Given the description of an element on the screen output the (x, y) to click on. 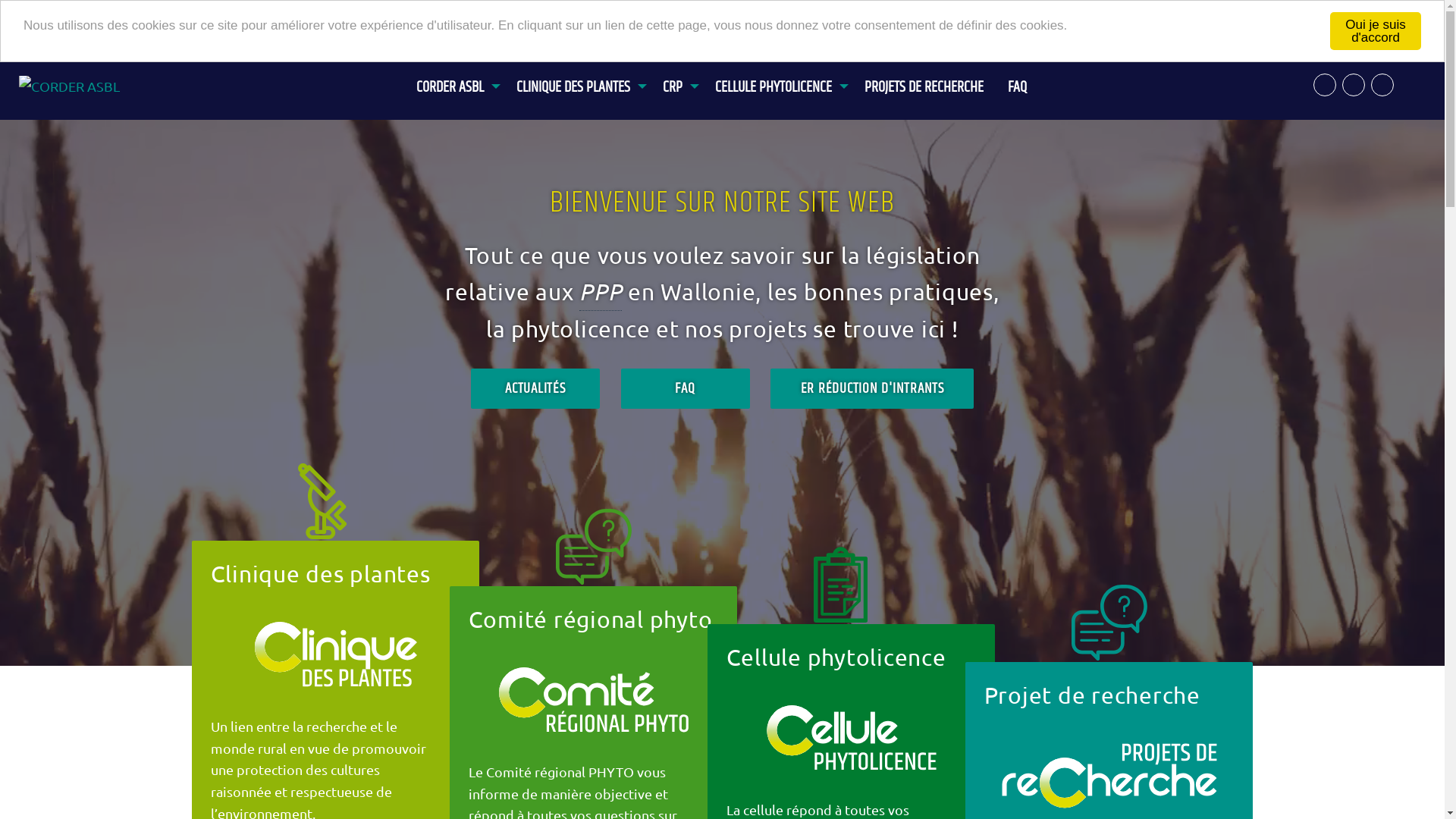
FAQ Element type: text (685, 387)
FAQ Element type: text (1016, 78)
CRP Element type: text (676, 78)
Aller au contenu principal Element type: text (0, 50)
CORDER ASBL Element type: text (454, 78)
PROJETS DE RECHERCHE Element type: text (923, 78)
CELLULE PHYTOLICENCE Element type: text (777, 78)
PPP Element type: hover (600, 291)
Oui je suis d'accord Element type: text (1375, 31)
CLINIQUE DES PLANTES Element type: text (577, 78)
Recherche Element type: hover (1324, 84)
Accueil CORDER ASBL Element type: hover (84, 84)
Lien vers la page Facebook CORDER Element type: hover (1353, 84)
